Given the description of an element on the screen output the (x, y) to click on. 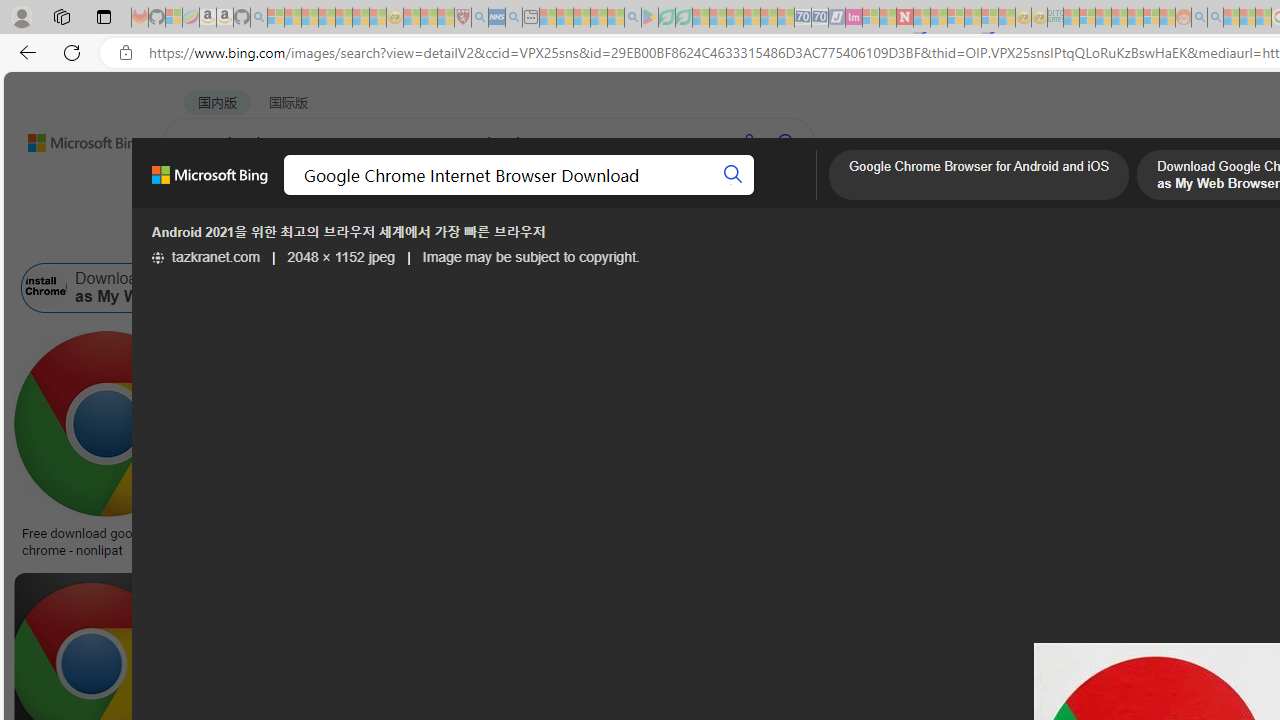
IMAGES (360, 196)
Workspaces (61, 16)
IMAGES (360, 195)
DITOGAMES AG Imprint - Sleeping (1055, 17)
WEB (201, 195)
Pets - MSN - Sleeping (598, 17)
Microsoft-Report a Concern to Bing - Sleeping (173, 17)
